Given the description of an element on the screen output the (x, y) to click on. 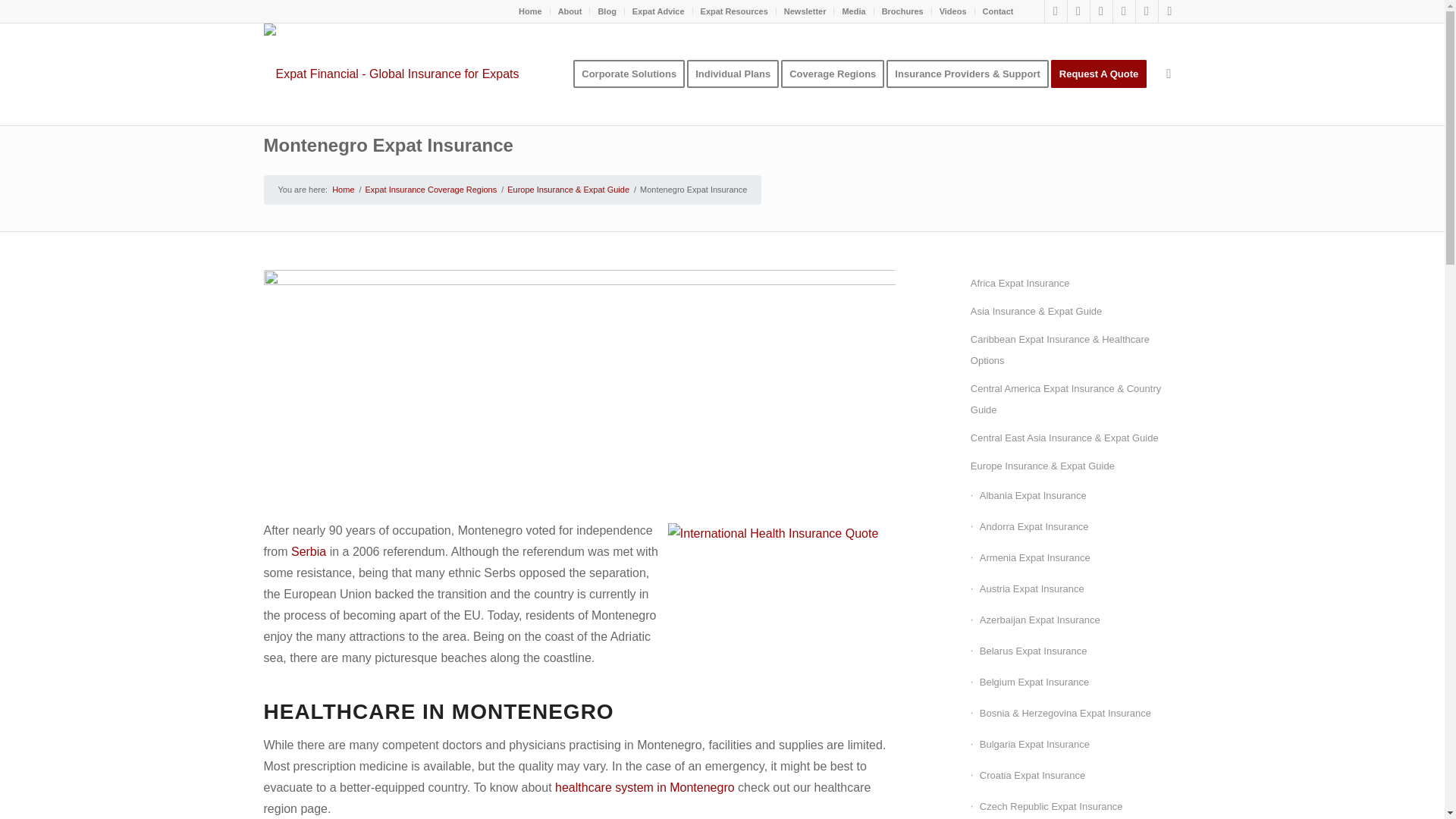
Facebook (1056, 11)
Youtube (1146, 11)
Coverage Regions (836, 74)
Permanent Link: Montenegro Expat Insurance (388, 145)
Videos (952, 11)
Brochures (902, 11)
Newsletter (805, 11)
Corporate Solutions (628, 74)
logo (391, 65)
Pinterest (1124, 11)
logo (391, 74)
Contact (997, 11)
Individual Plans (738, 74)
Mail (1169, 11)
LinkedIn (1101, 11)
